Given the description of an element on the screen output the (x, y) to click on. 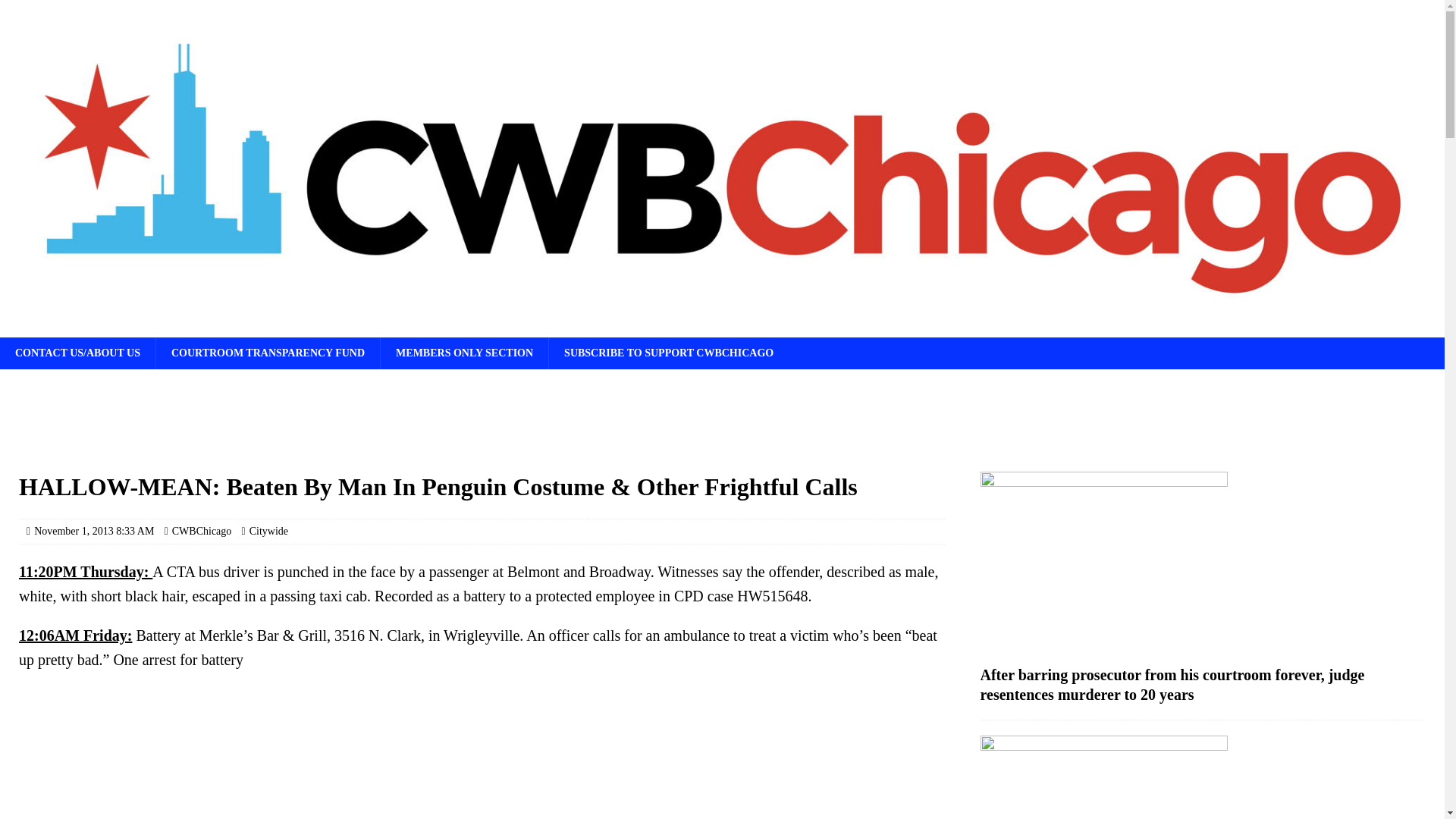
MEMBERS ONLY SECTION (464, 353)
November 1, 2013 8:33 AM (93, 531)
CWBChicago (201, 531)
Citywide (268, 531)
SUBSCRIBE TO SUPPORT CWBCHICAGO (668, 353)
COURTROOM TRANSPARENCY FUND (267, 353)
